Given the description of an element on the screen output the (x, y) to click on. 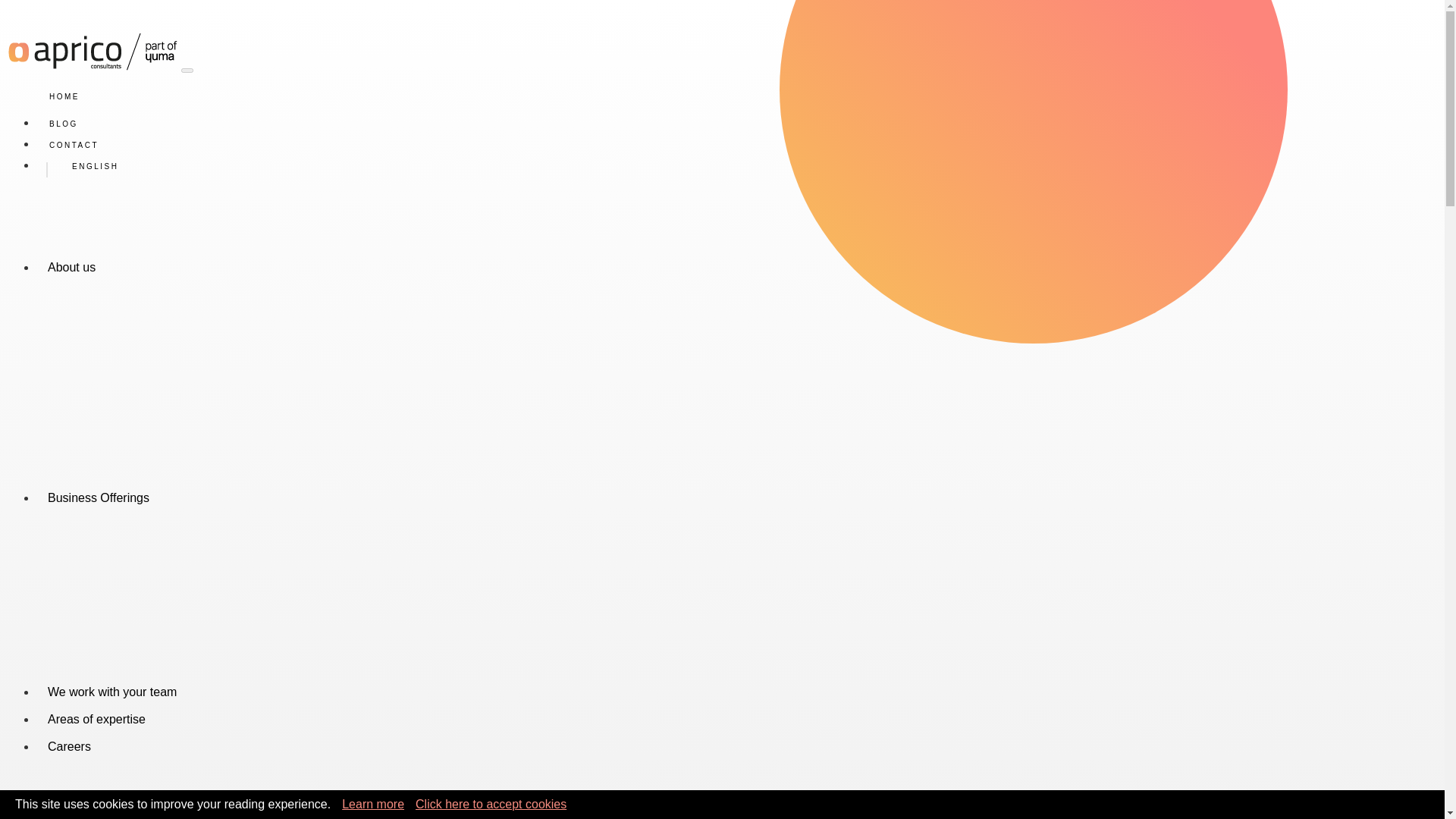
Business Offerings (98, 501)
About us (72, 271)
CONTACT (74, 148)
ENGLISH (88, 170)
HOME (64, 100)
BLOG (63, 127)
Areas of expertise (96, 722)
We work with your team (112, 695)
Careers (69, 750)
